Given the description of an element on the screen output the (x, y) to click on. 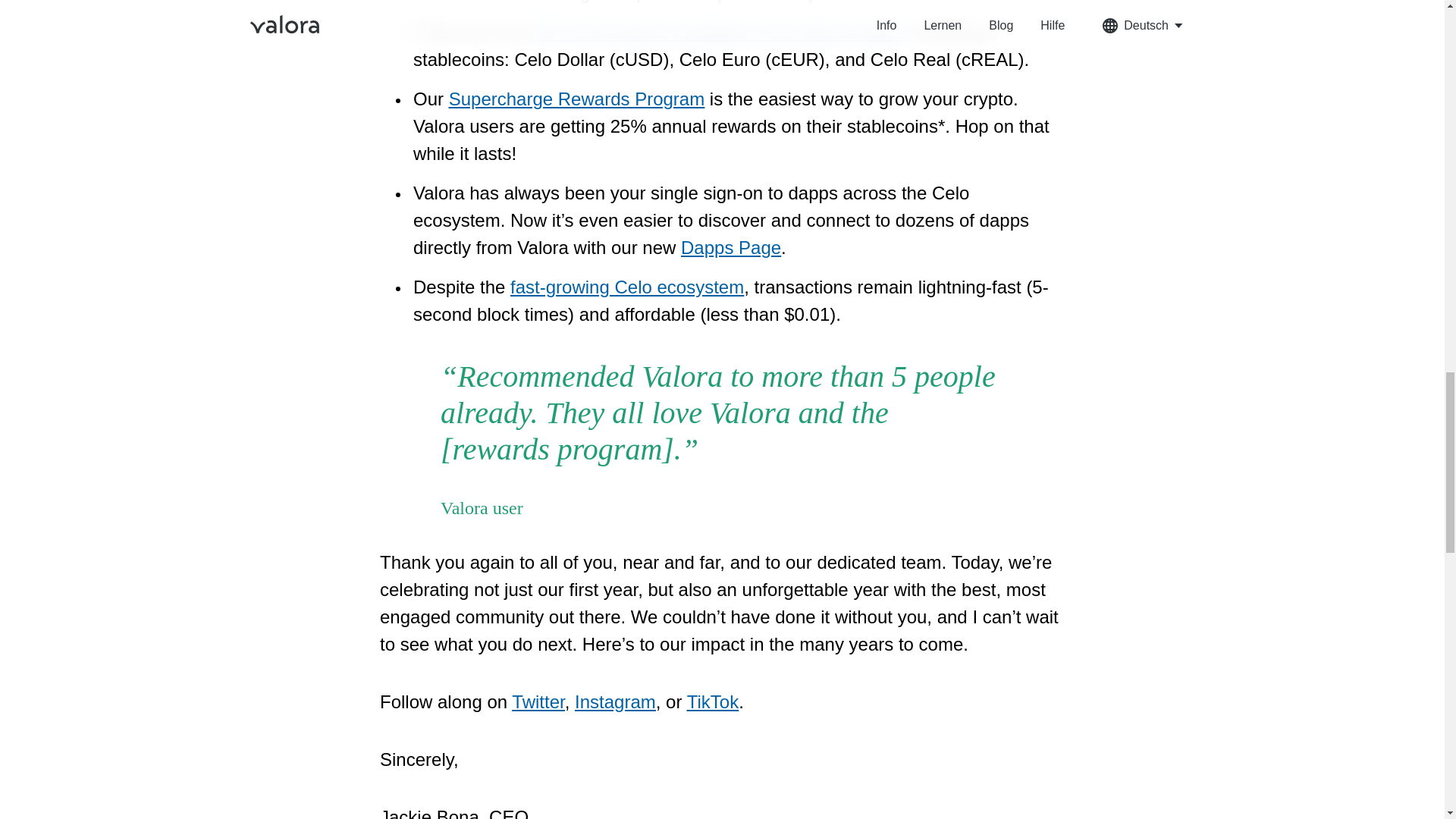
Instagram (615, 701)
Twitter (538, 701)
Supercharge Rewards Program (576, 98)
Dapps Page (730, 247)
TikTok (712, 701)
fast-growing Celo ecosystem (627, 286)
